Given the description of an element on the screen output the (x, y) to click on. 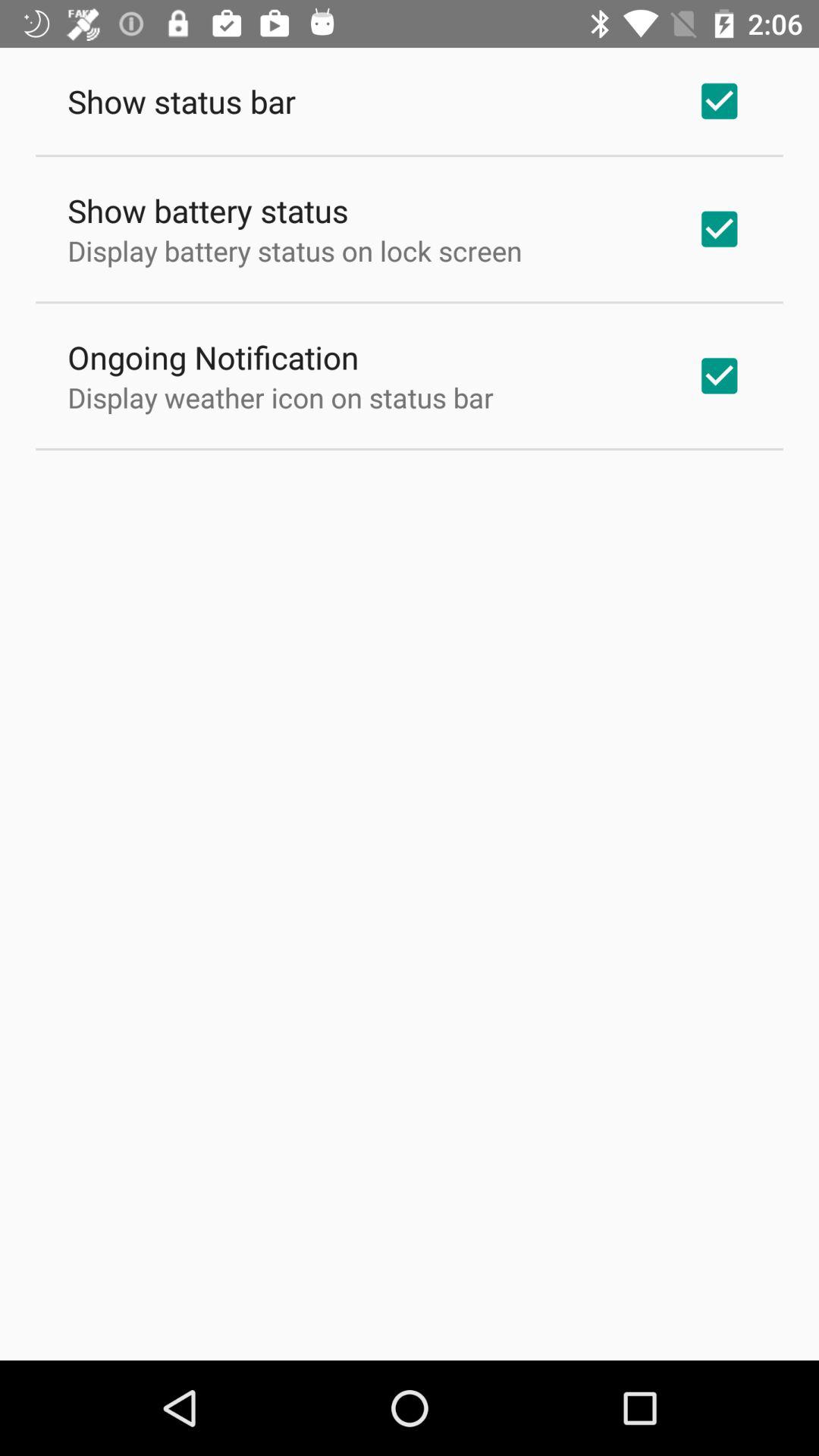
launch display weather icon (280, 397)
